Given the description of an element on the screen output the (x, y) to click on. 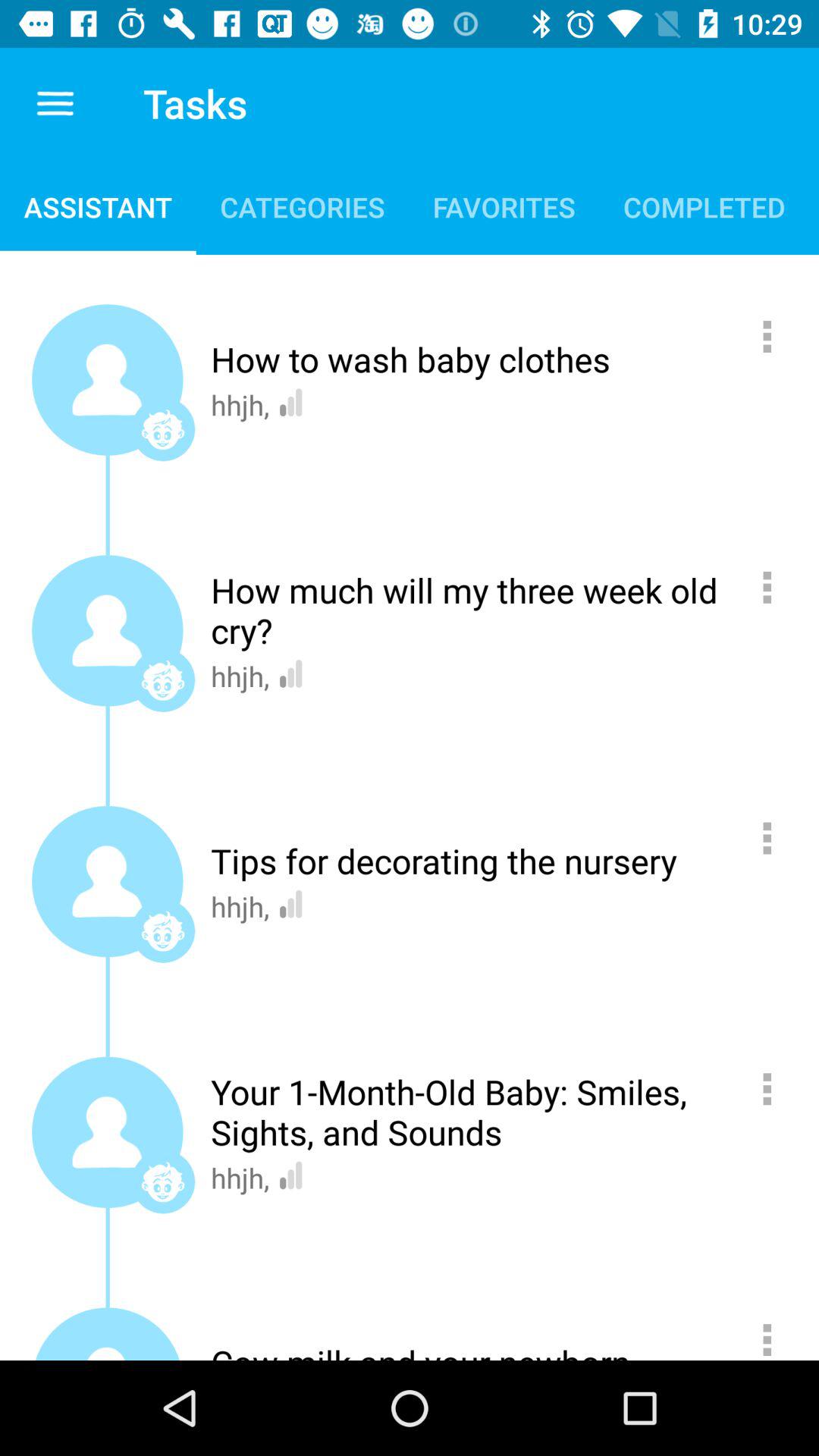
launch the icon next to the tasks icon (56, 103)
